Given the description of an element on the screen output the (x, y) to click on. 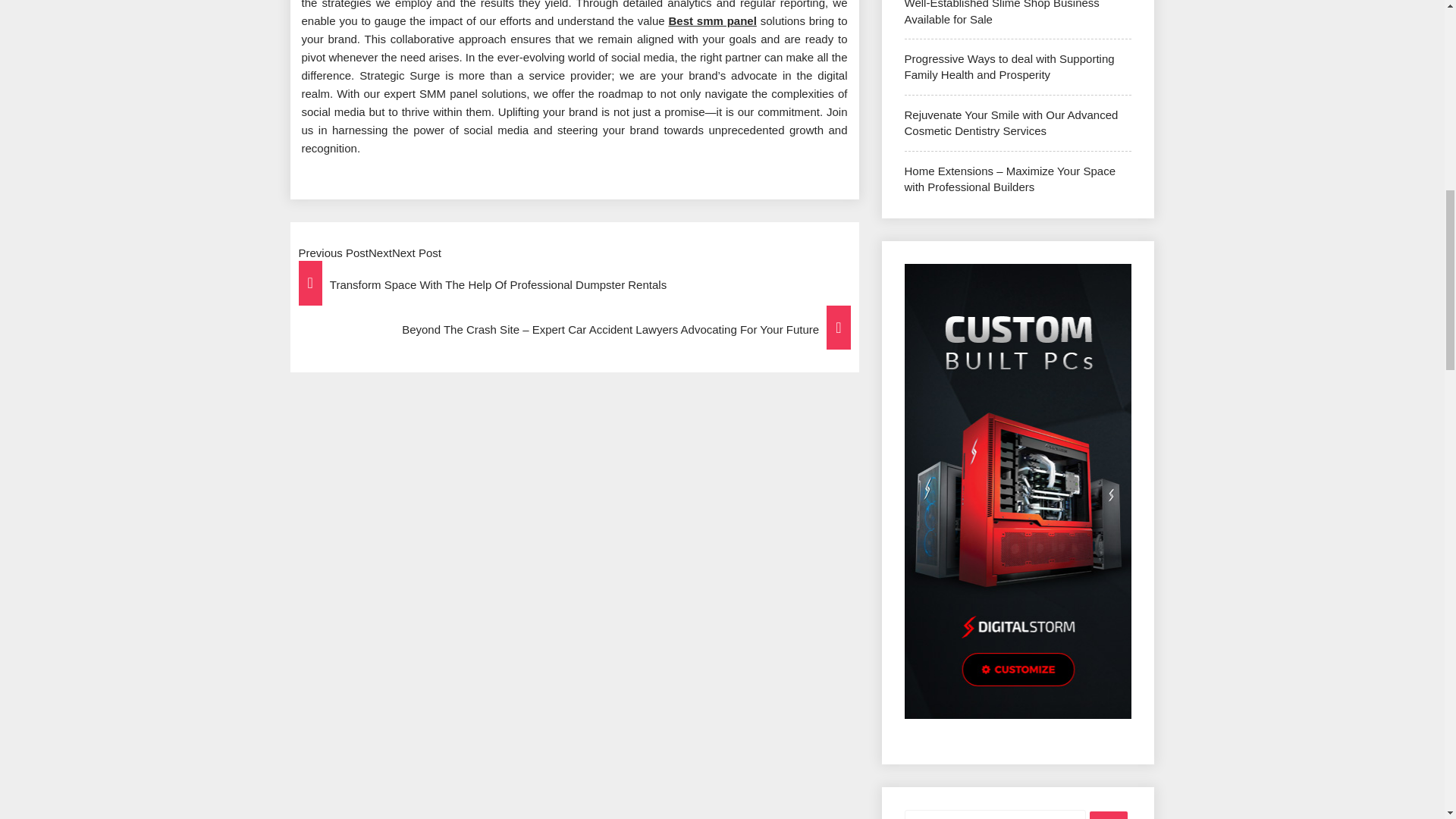
Well-Established Slime Shop Business Available for Sale (1001, 12)
Search (1107, 815)
Best smm panel (711, 20)
